Given the description of an element on the screen output the (x, y) to click on. 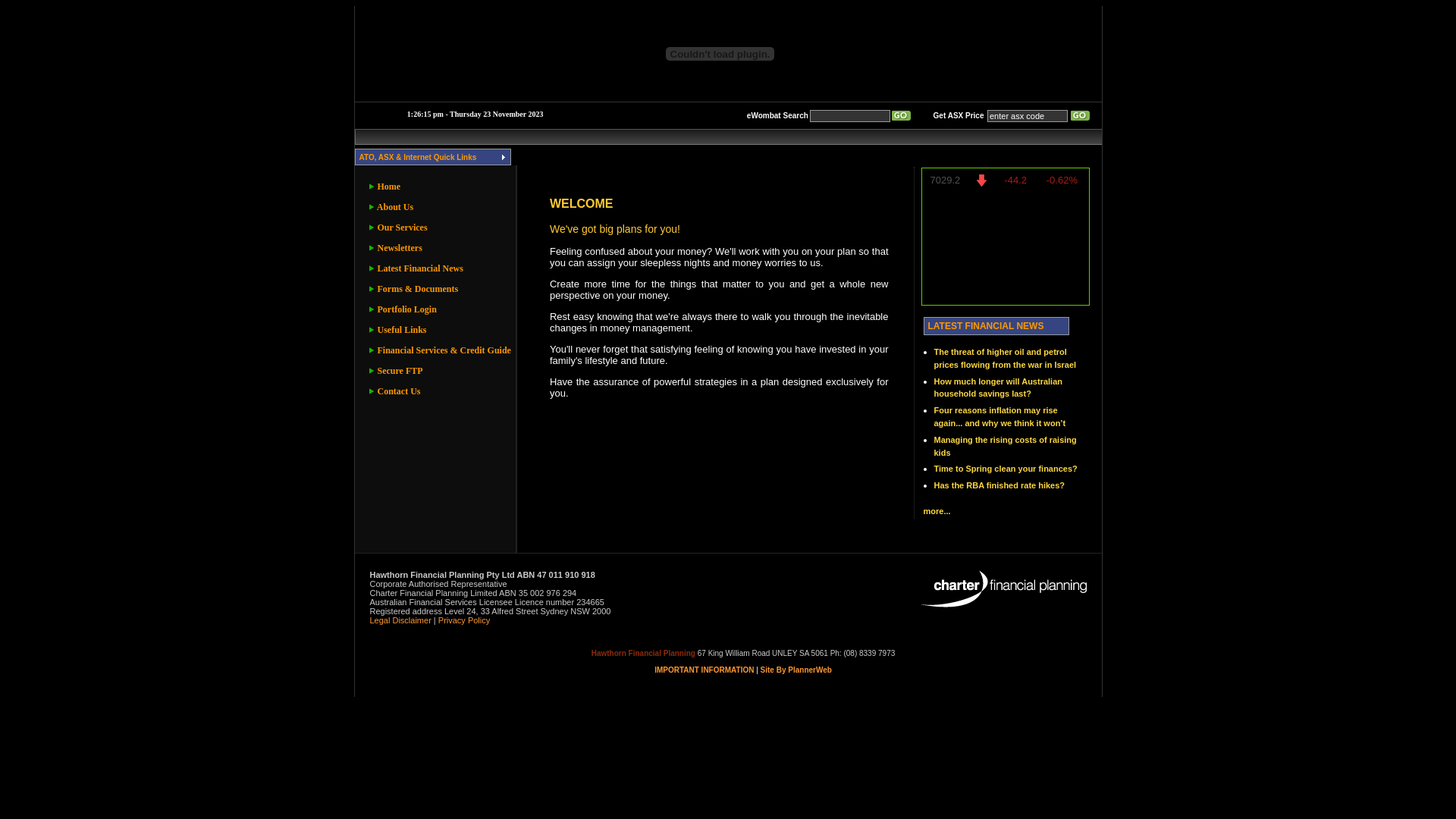
Privacy Policy Element type: text (463, 619)
    Our Services Element type: text (438, 227)
    Newsletters Element type: text (438, 247)
    Secure FTP Element type: text (438, 370)
IMPORTANT INFORMATION Element type: text (705, 669)
    Contact Us Element type: text (438, 391)
ATO, ASX & Internet Quick Links Element type: text (432, 156)
Time to Spring clean your finances? Element type: text (1005, 468)
eWombat Search Element type: text (777, 115)
more... Element type: text (936, 510)
enter asx code Element type: text (1027, 115)
Managing the rising costs of raising kids Element type: text (1005, 446)
    Latest Financial News Element type: text (438, 268)
How much longer will Australian household savings last? Element type: text (998, 387)
    Useful Links Element type: text (438, 329)
Has the RBA finished rate hikes? Element type: text (999, 484)
    Forms & Documents Element type: text (438, 288)
    Financial Services & Credit Guide Element type: text (438, 350)
Site By PlannerWeb Element type: text (795, 669)
    Home Element type: text (438, 186)
    Portfolio Login Element type: text (438, 309)
Legal Disclaimer Element type: text (400, 619)
    About Us Element type: text (438, 206)
